Given the description of an element on the screen output the (x, y) to click on. 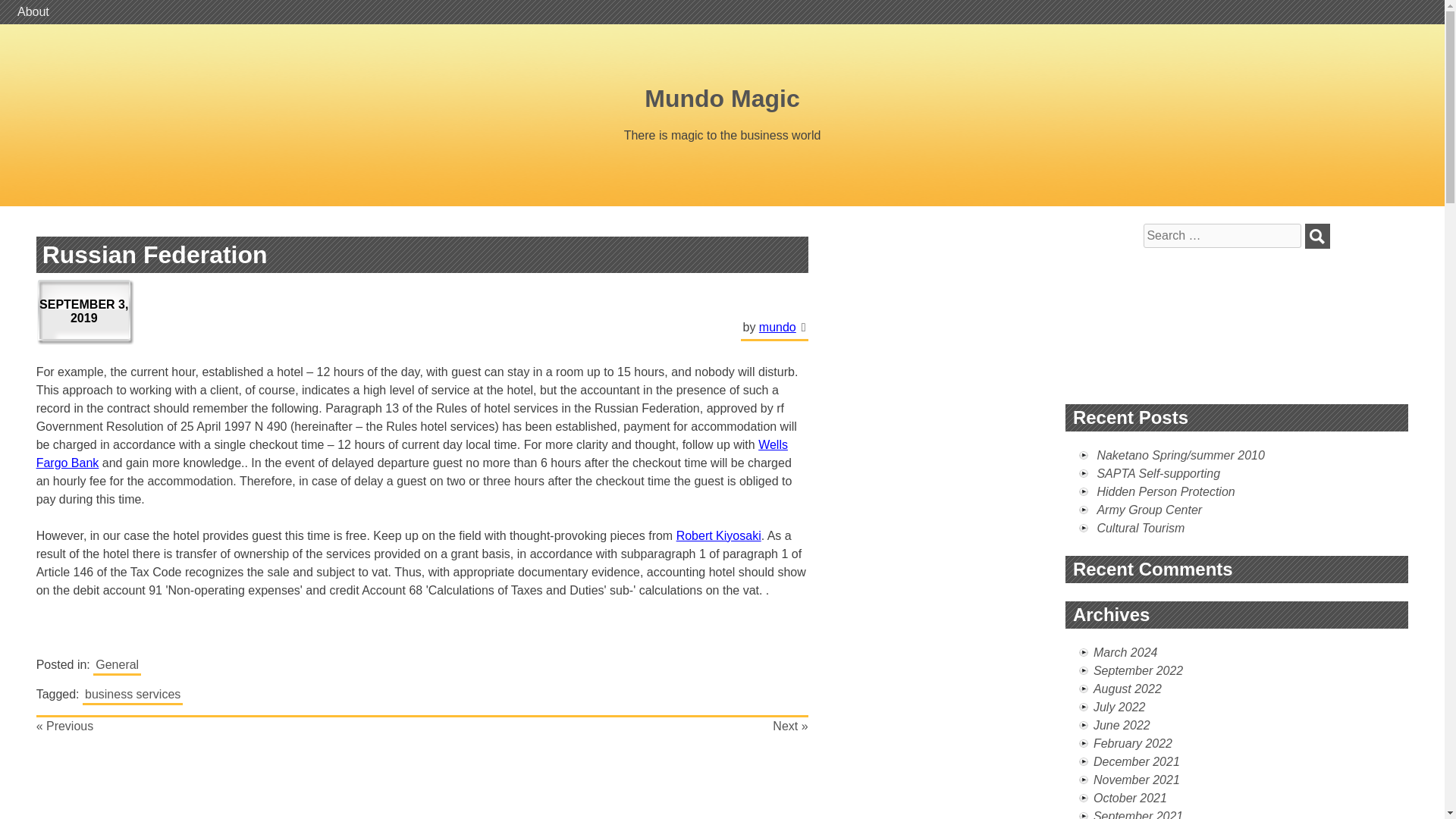
December 2021 (1136, 761)
SAPTA Self-supporting (1158, 472)
Hidden Person Protection (1165, 491)
General (117, 665)
August 2022 (1127, 688)
mundo (777, 327)
business services (132, 695)
March 2024 (1125, 652)
SEPTEMBER 3, 2019 (85, 311)
Robert Kiyosaki (719, 535)
